Given the description of an element on the screen output the (x, y) to click on. 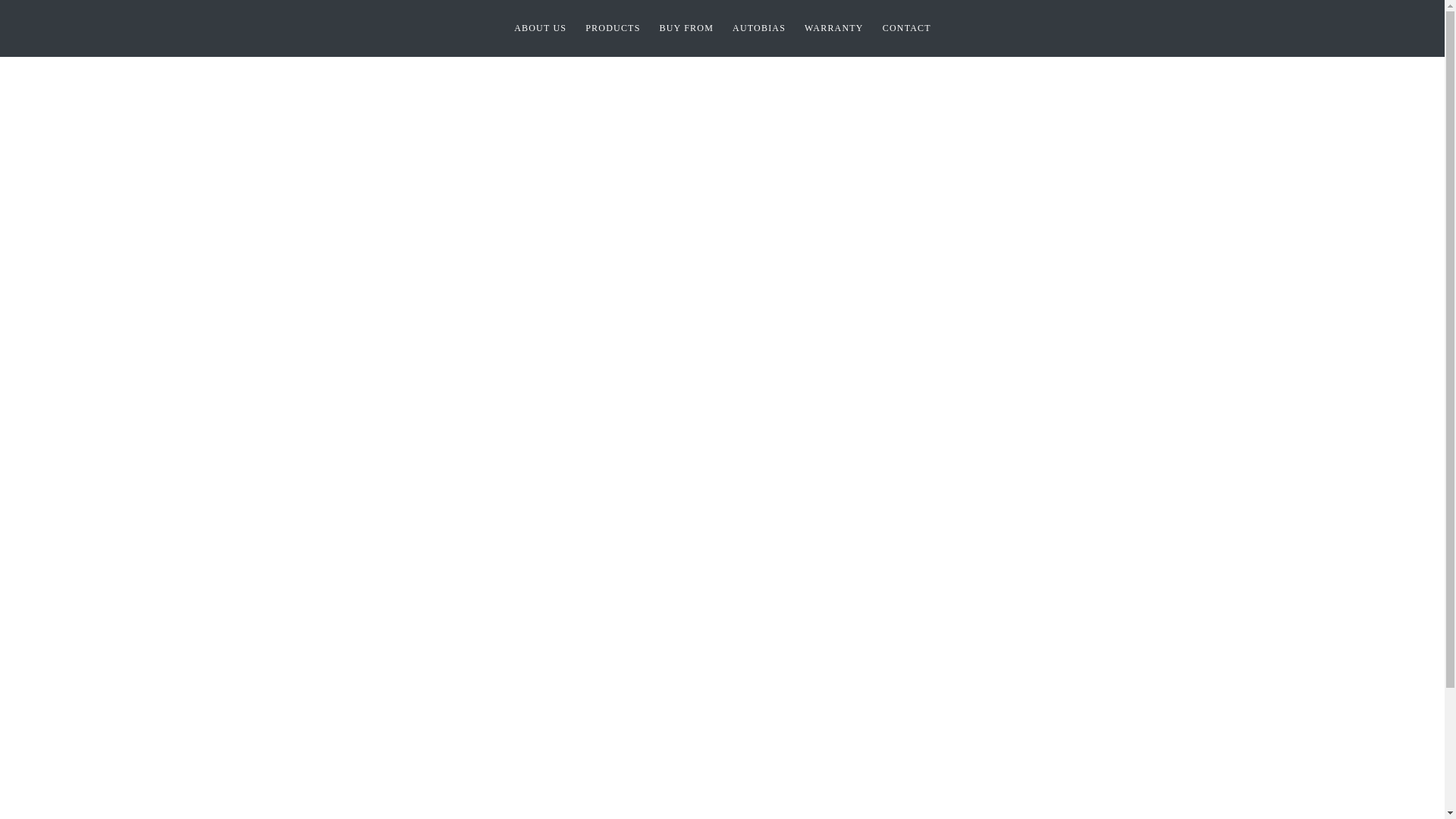
CONTACT Element type: text (906, 28)
BUY FROM Element type: text (686, 28)
ABOUT US Element type: text (540, 28)
PRODUCTS Element type: text (612, 28)
WARRANTY Element type: text (833, 28)
AUTOBIAS Element type: text (758, 28)
